Given the description of an element on the screen output the (x, y) to click on. 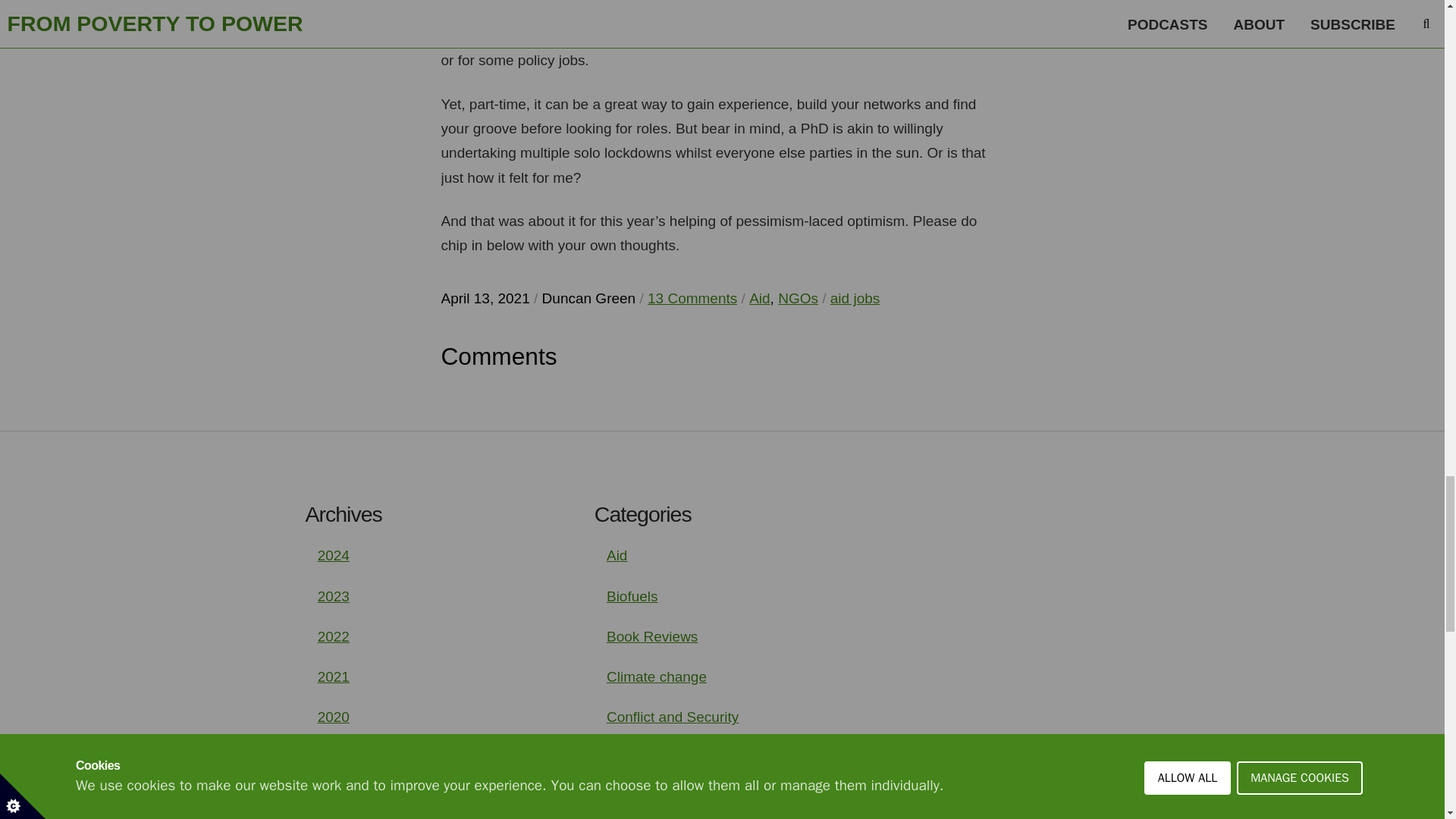
aid jobs (854, 298)
NGOs (797, 298)
13 Comments (691, 298)
